Given the description of an element on the screen output the (x, y) to click on. 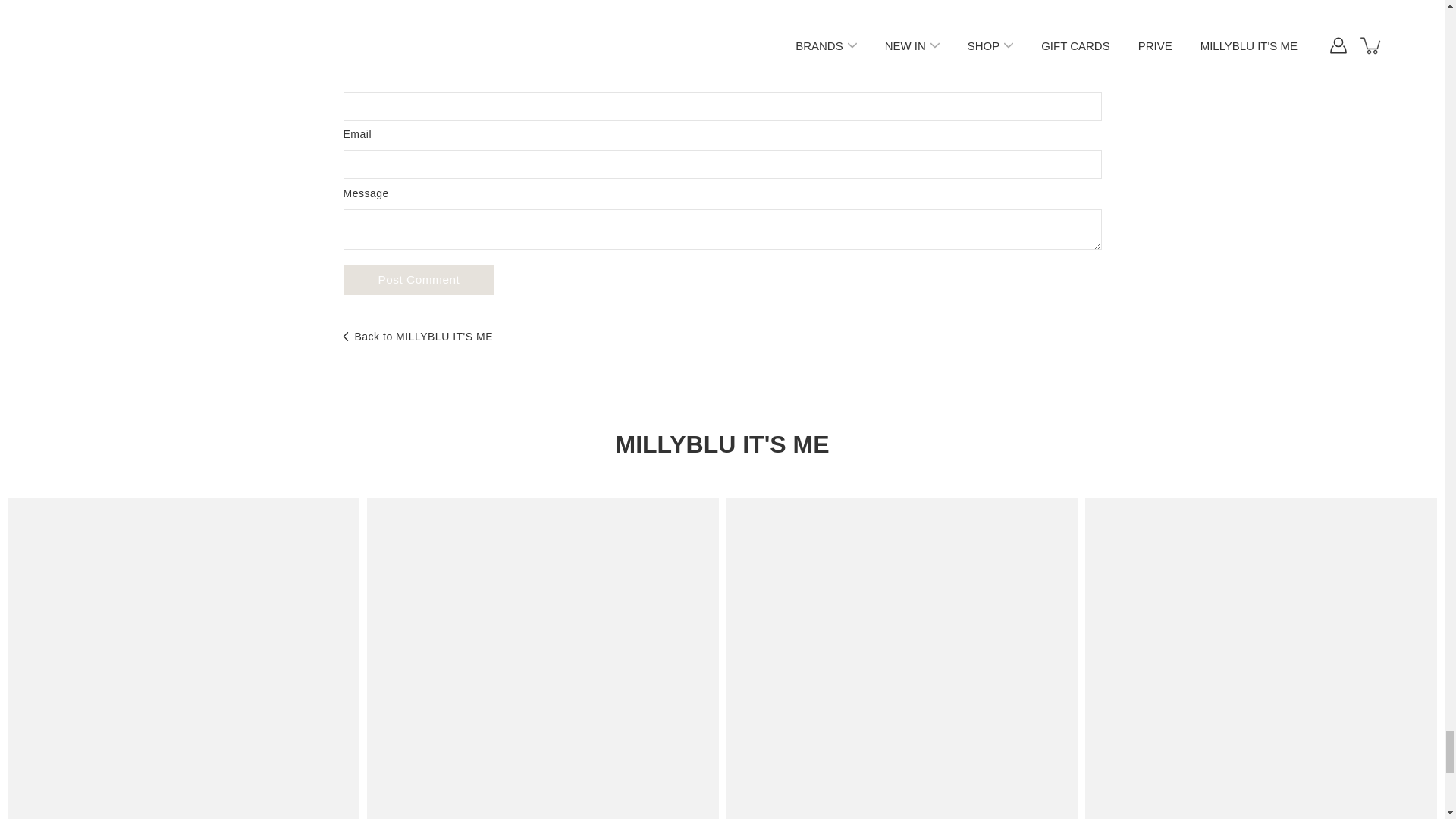
SUMMER 2024 SEA FASHION: TRENDY COLORS (183, 658)
Post Comment (418, 279)
MILLYBLU FOR GOMORRA (1260, 658)
MILAN FASHION WEEK FW 2024-2025 (542, 658)
